Given the description of an element on the screen output the (x, y) to click on. 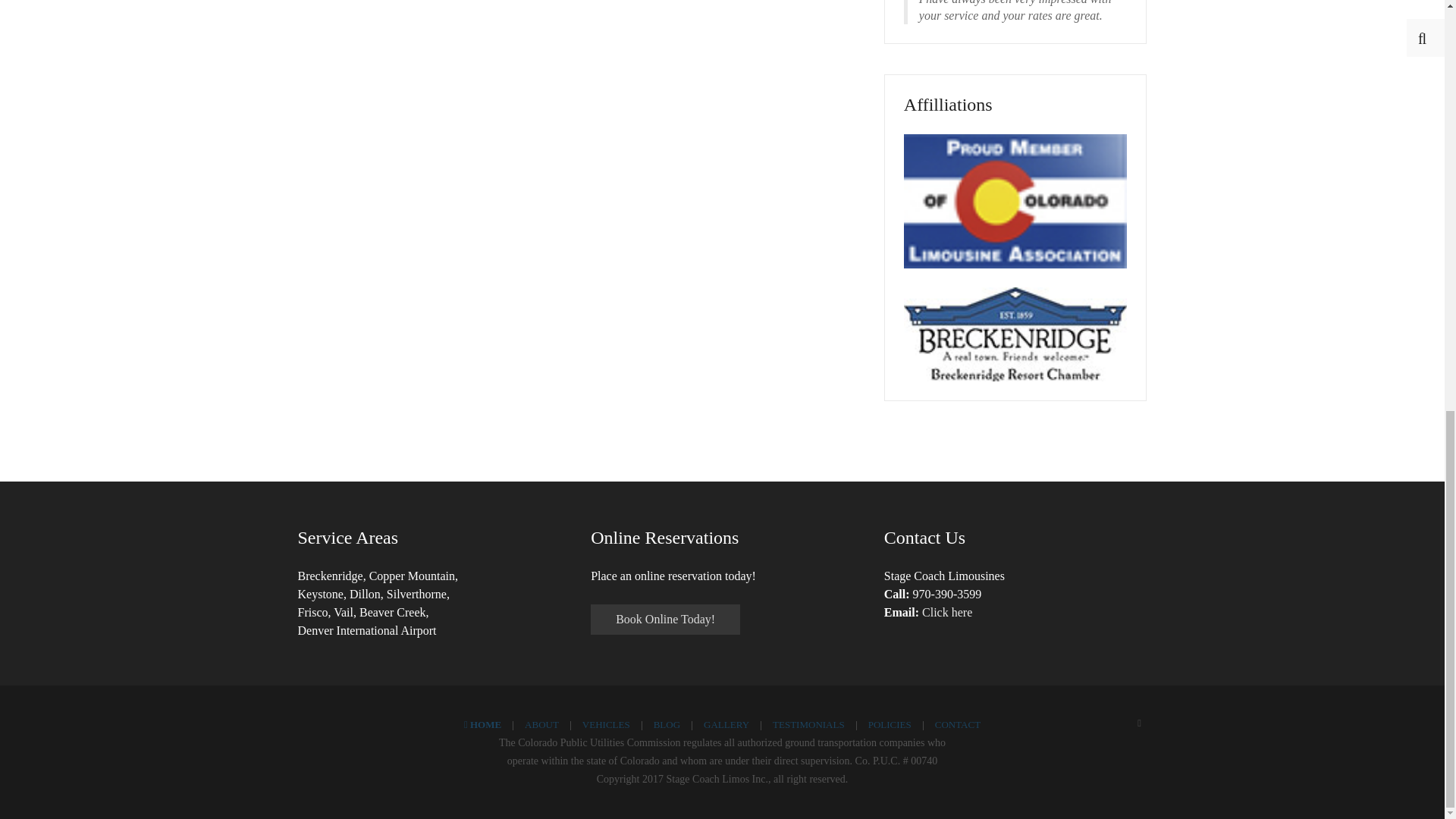
GALLERY (726, 724)
ABOUT (541, 724)
Book Online Today! (665, 619)
VEHICLES (606, 724)
CONTACT (956, 724)
BLOG (666, 724)
Click here (946, 612)
POLICIES (889, 724)
TESTIMONIALS (808, 724)
HOME (482, 724)
